Given the description of an element on the screen output the (x, y) to click on. 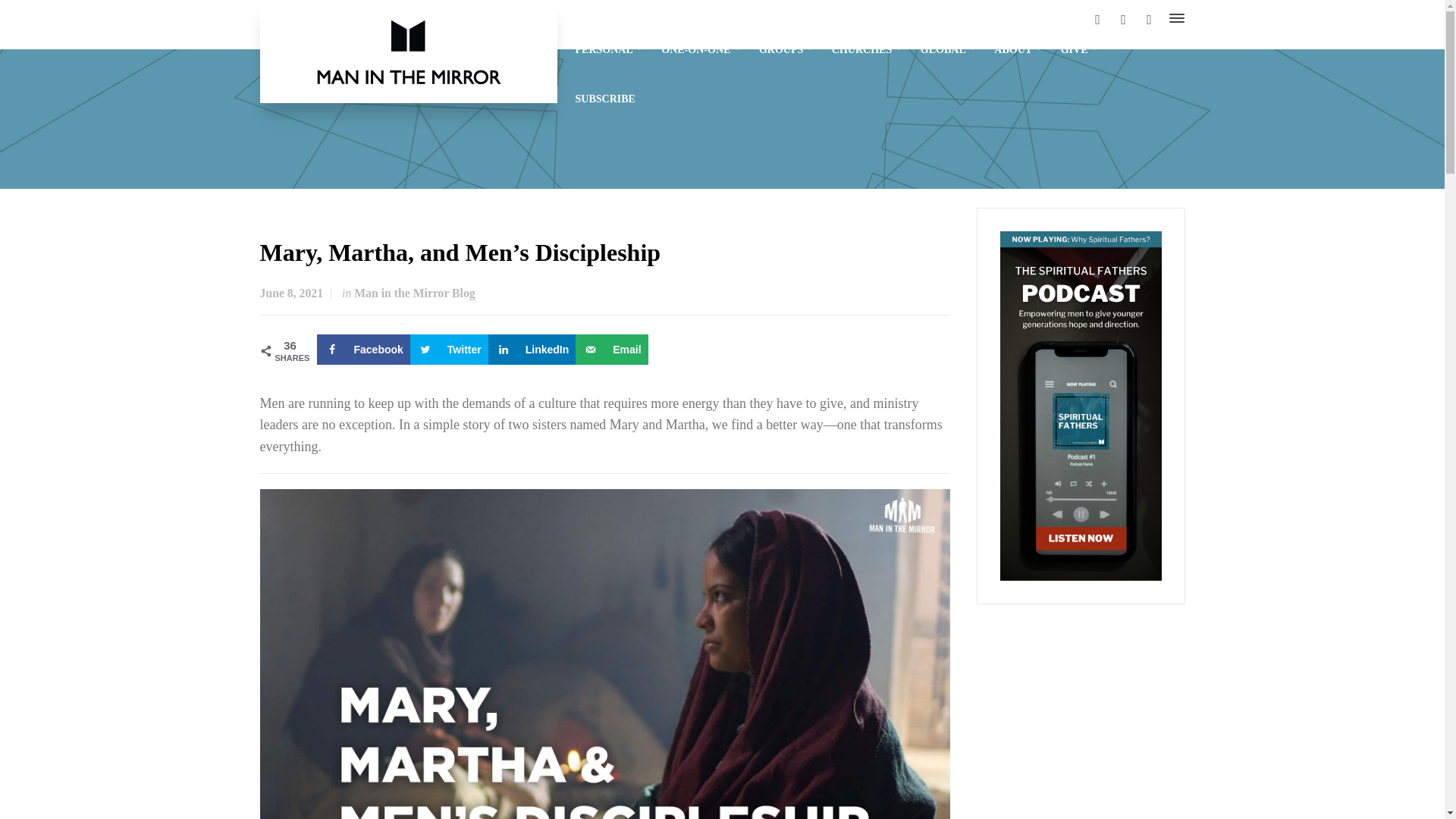
Share on Facebook (363, 349)
ABOUT (1018, 48)
Man in the Mirror (407, 51)
GROUPS (785, 48)
Share on LinkedIn (531, 349)
PERSONAL (609, 48)
Share on Twitter (448, 349)
GIVE (1078, 48)
ONE-ON-ONE (700, 48)
GLOBAL (948, 48)
Send over email (611, 349)
CHURCHES (866, 48)
